Given the description of an element on the screen output the (x, y) to click on. 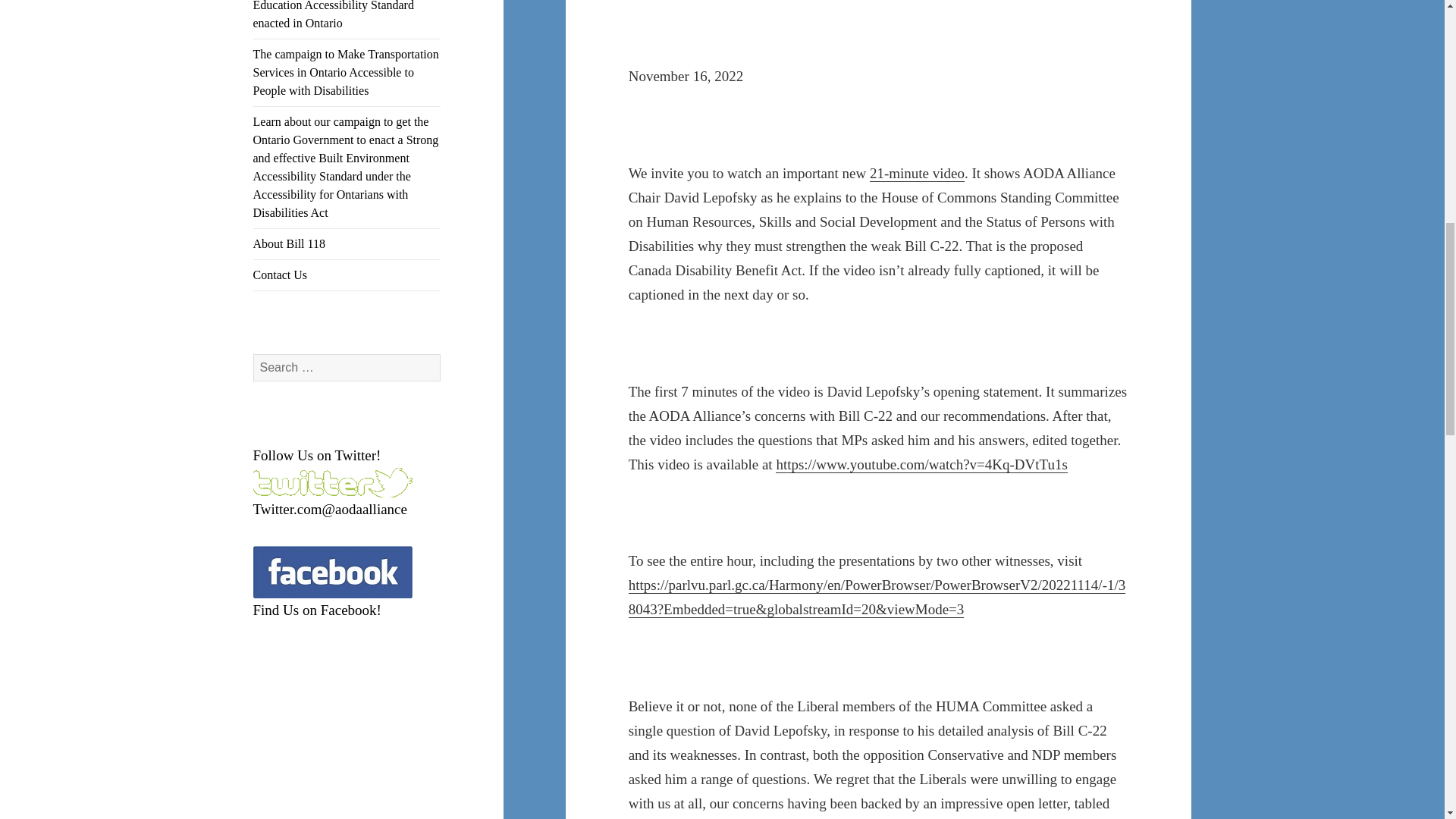
About Bill 118 (347, 244)
Find Us on Facebook! (317, 609)
Contact Us (347, 275)
Follow Us on Twitter! (317, 455)
